Given the description of an element on the screen output the (x, y) to click on. 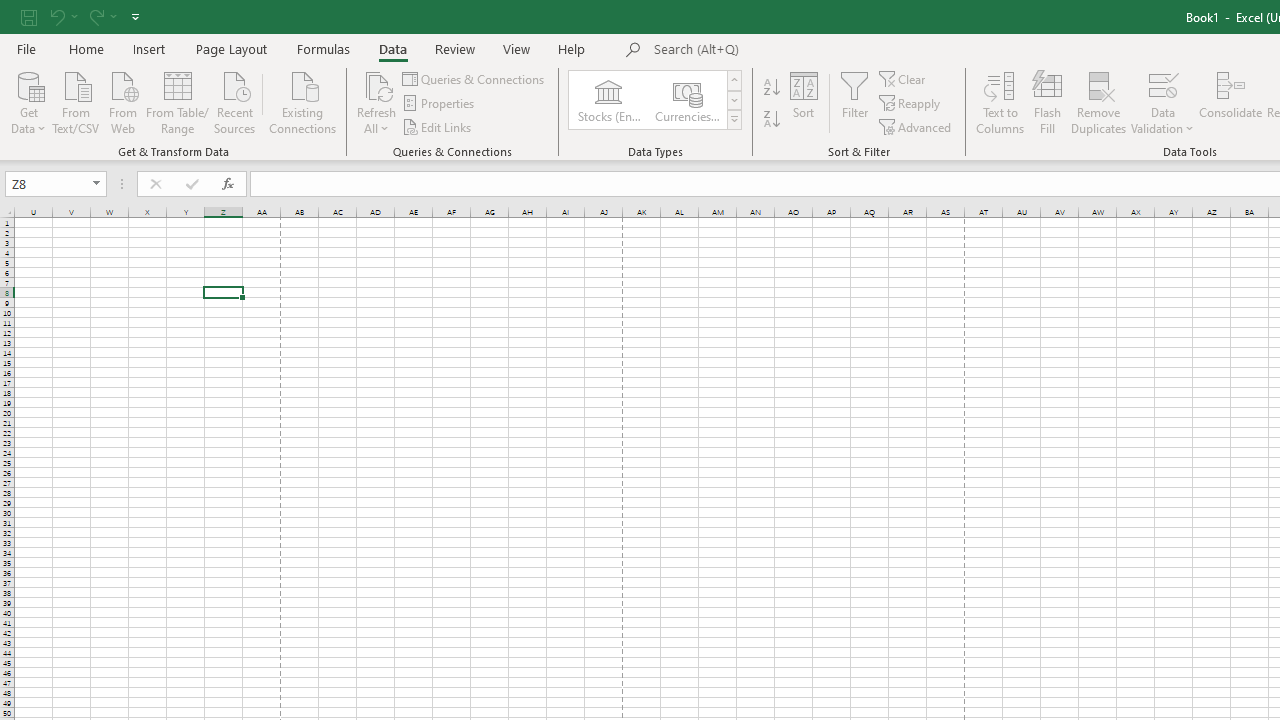
Name Box (56, 183)
Edit Links (438, 126)
From Text/CSV (75, 101)
Undo (62, 15)
Reapply (911, 103)
More Options (1162, 121)
File Tab (26, 48)
Formulas (323, 48)
Class: NetUIImage (734, 119)
Refresh All (376, 84)
Currencies (English) (686, 100)
Help (572, 48)
Data Validation... (1162, 84)
Sort A to Z (772, 87)
Data Types (734, 120)
